Given the description of an element on the screen output the (x, y) to click on. 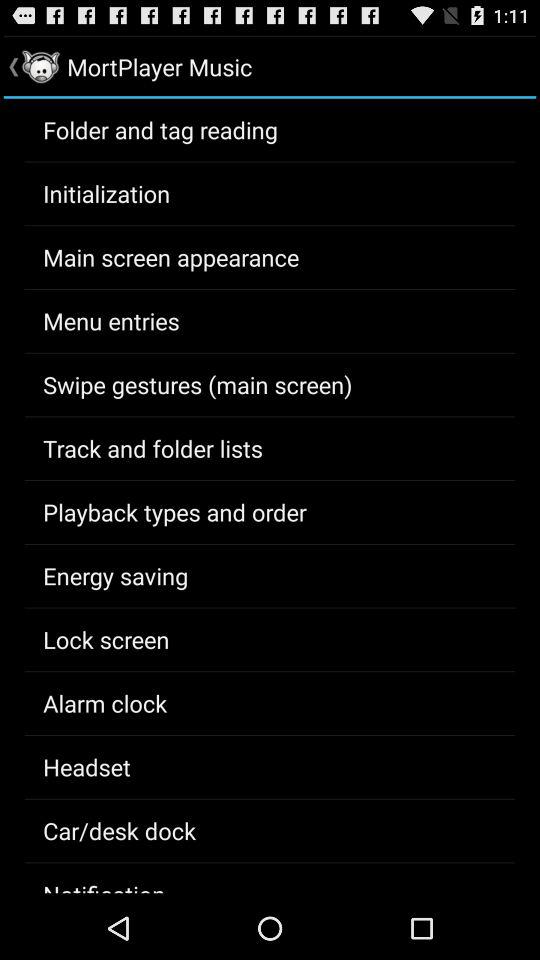
scroll until the swipe gestures main item (197, 384)
